Given the description of an element on the screen output the (x, y) to click on. 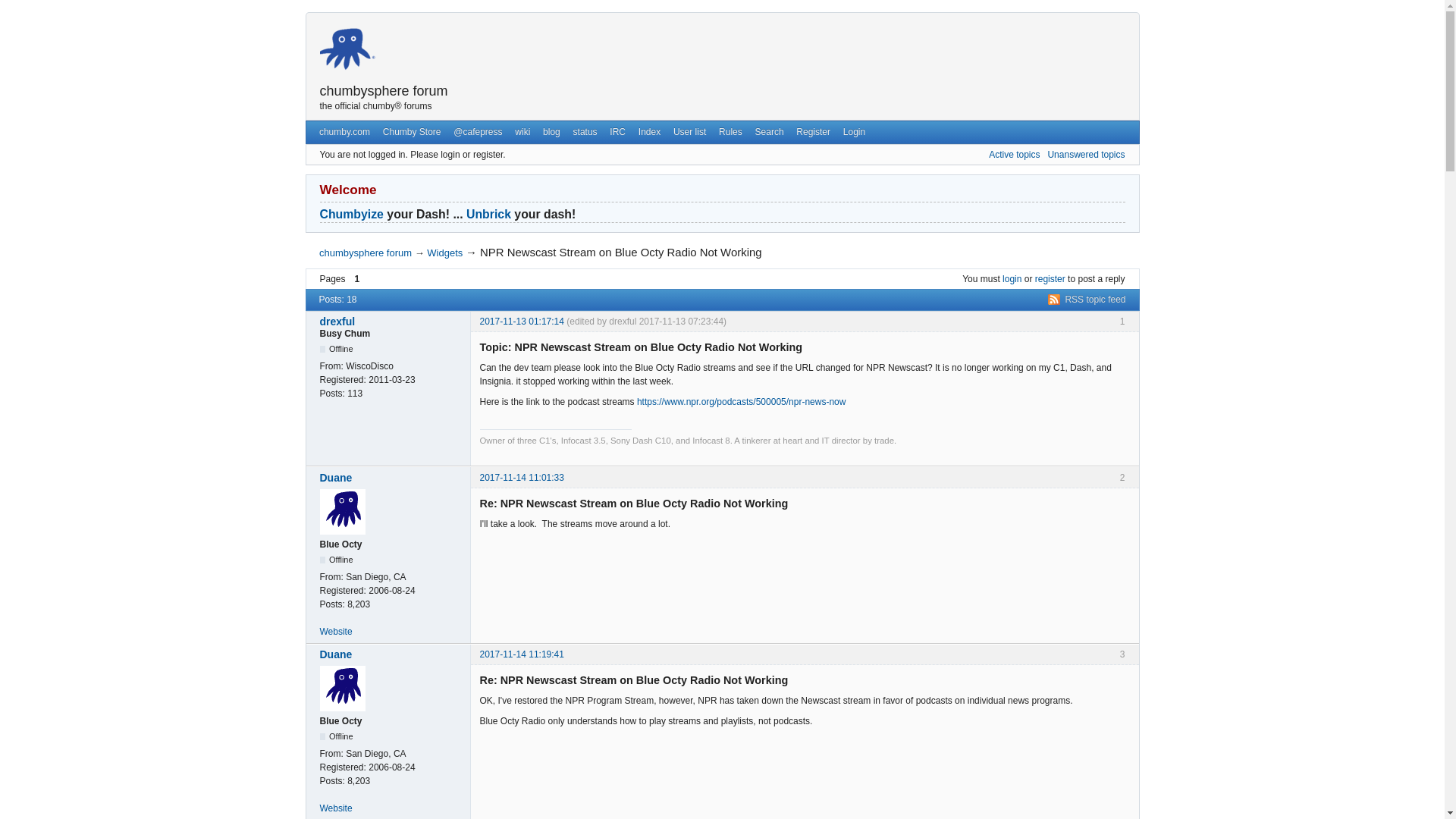
Unanswered topics (1085, 154)
Search (769, 131)
Rules (730, 131)
2017-11-14 11:01:33 (521, 477)
drexful (390, 321)
chumby.com (344, 131)
Find topics which contain recent posts. (1013, 154)
2017-11-13 01:17:14 (521, 321)
Chumby Store (410, 131)
Website (336, 631)
chumbysphere forum (384, 90)
Unbrick (488, 214)
Register (812, 131)
chumbysphere forum (365, 252)
Go to Duane's profile (390, 653)
